Given the description of an element on the screen output the (x, y) to click on. 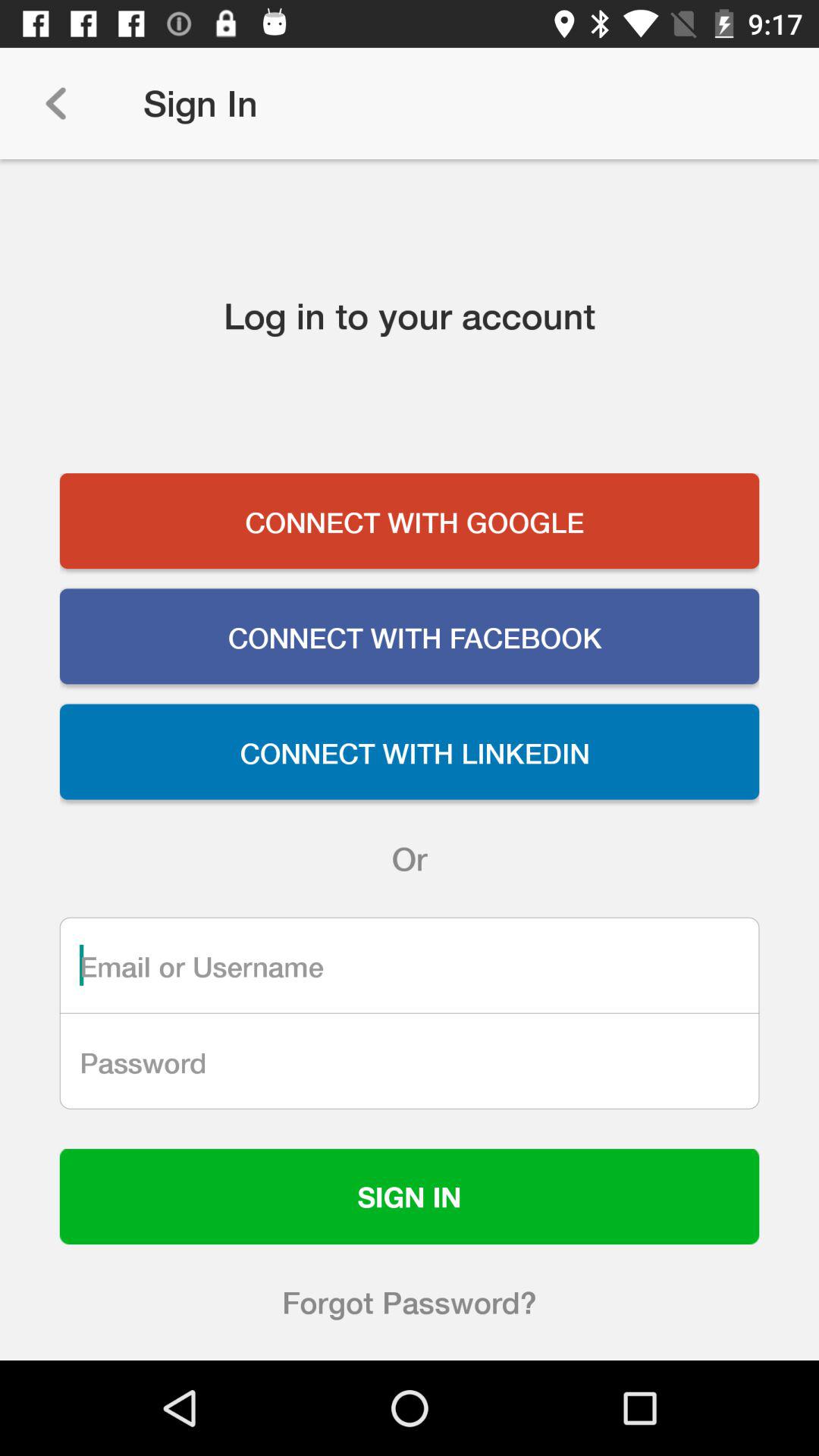
click the forgot password? (409, 1302)
